Given the description of an element on the screen output the (x, y) to click on. 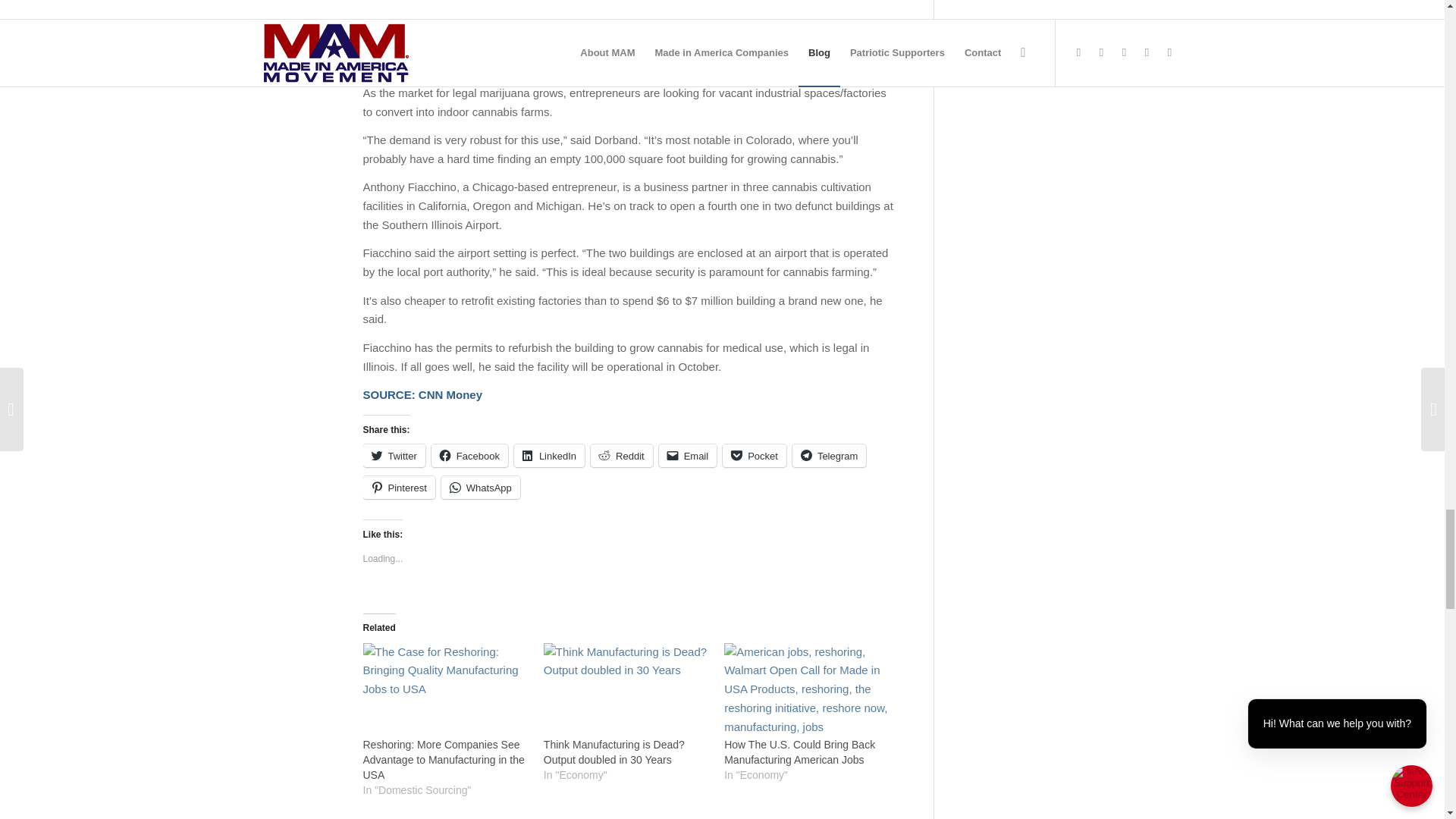
Click to share on Facebook (469, 455)
Click to share on Reddit (621, 455)
Click to email a link to a friend (688, 455)
CNN Money (450, 394)
Click to share on Twitter (393, 455)
Twitter (393, 455)
Click to share on LinkedIn (549, 455)
Click to share on Pocket (754, 455)
Facebook (469, 455)
